Given the description of an element on the screen output the (x, y) to click on. 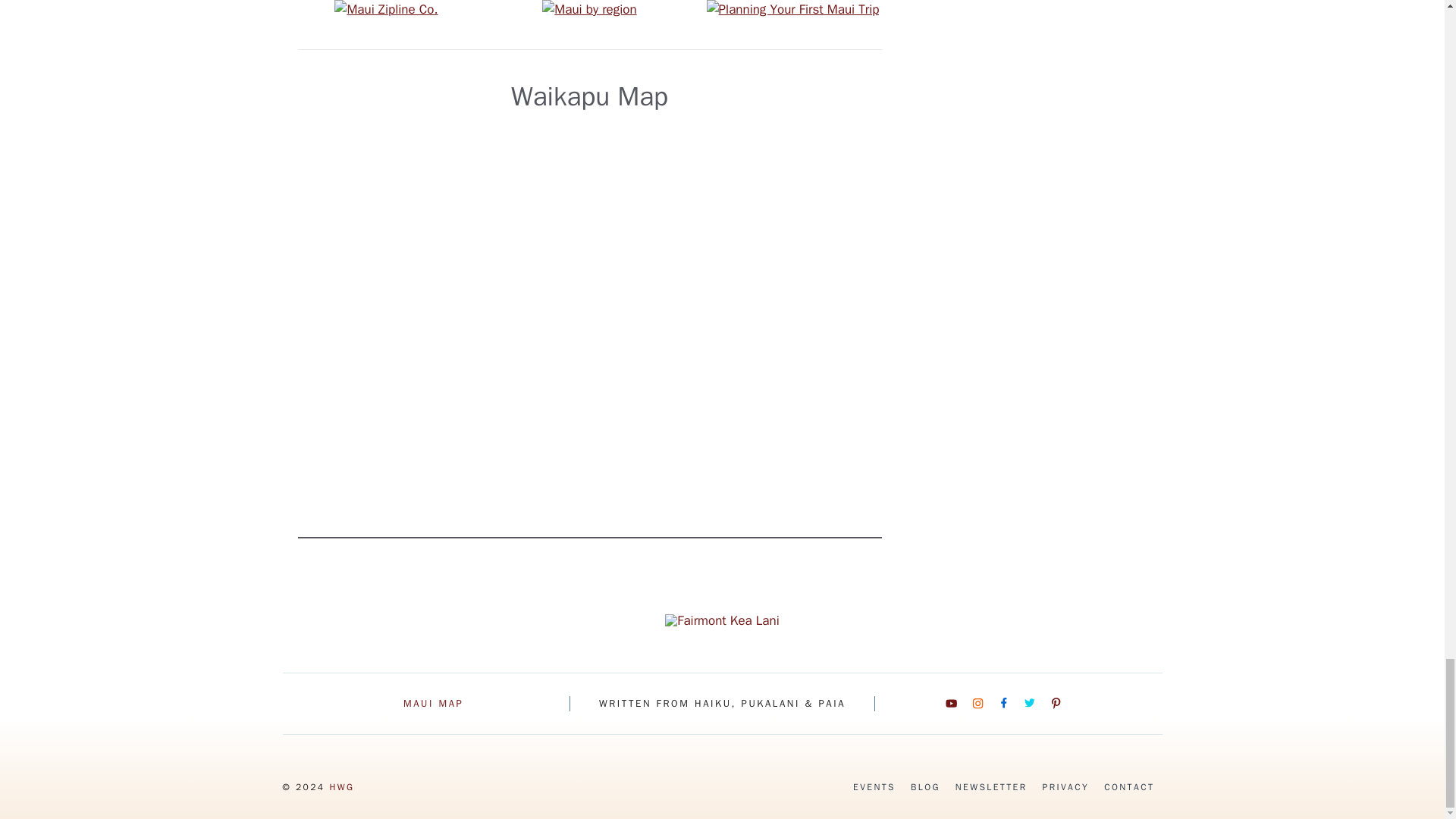
Planning Your First Trip (792, 8)
Maui Zipline Co. (386, 8)
Maui by Region (588, 8)
